Given the description of an element on the screen output the (x, y) to click on. 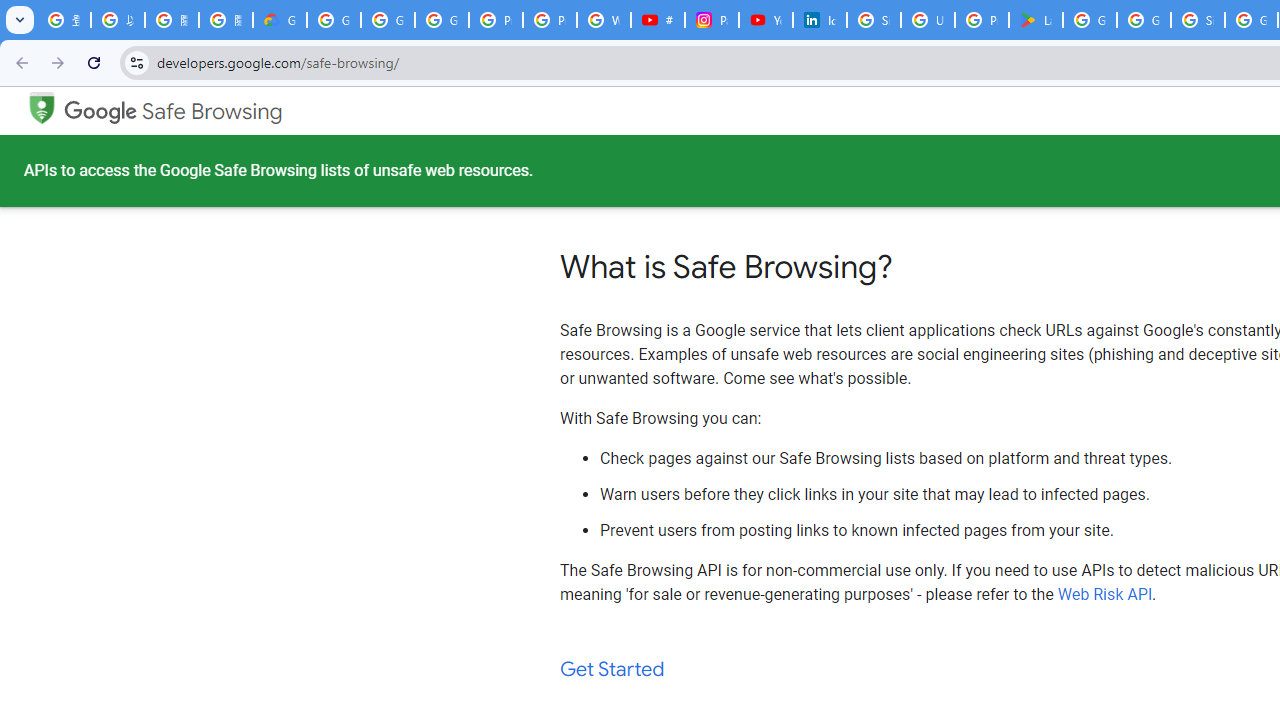
Privacy Help Center - Policies Help (550, 20)
YouTube Culture & Trends - On The Rise: Handcam Videos (765, 20)
Google (101, 111)
Google Safe Browsing (173, 111)
Identity verification via Persona | LinkedIn Help (819, 20)
Sign in - Google Accounts (1197, 20)
#nbabasketballhighlights - YouTube (657, 20)
Get Started (612, 669)
